Given the description of an element on the screen output the (x, y) to click on. 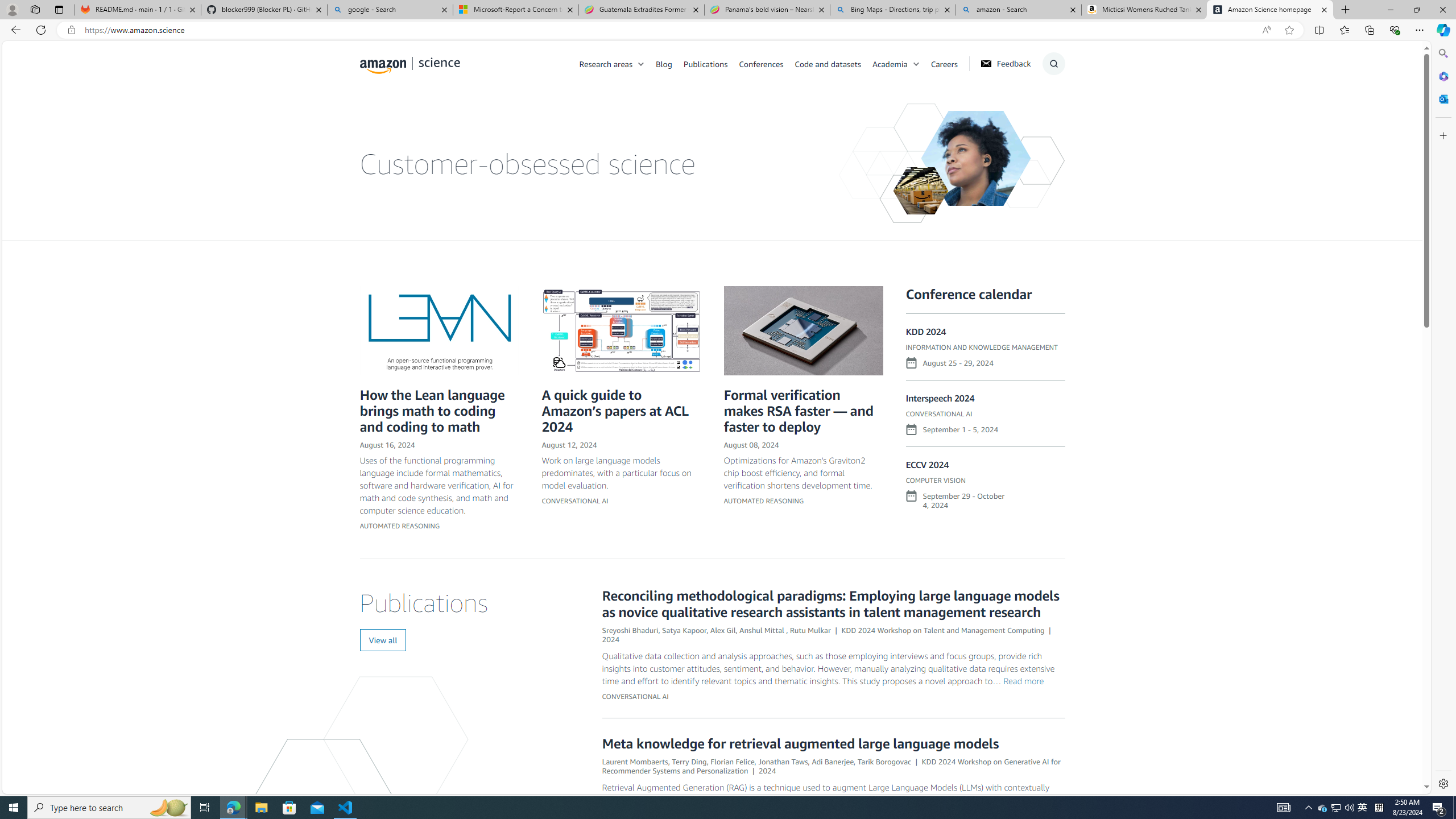
Publications (710, 63)
Class: icon-magnify (372, 108)
Blog (669, 63)
Blog (663, 63)
home page (409, 62)
